Given the description of an element on the screen output the (x, y) to click on. 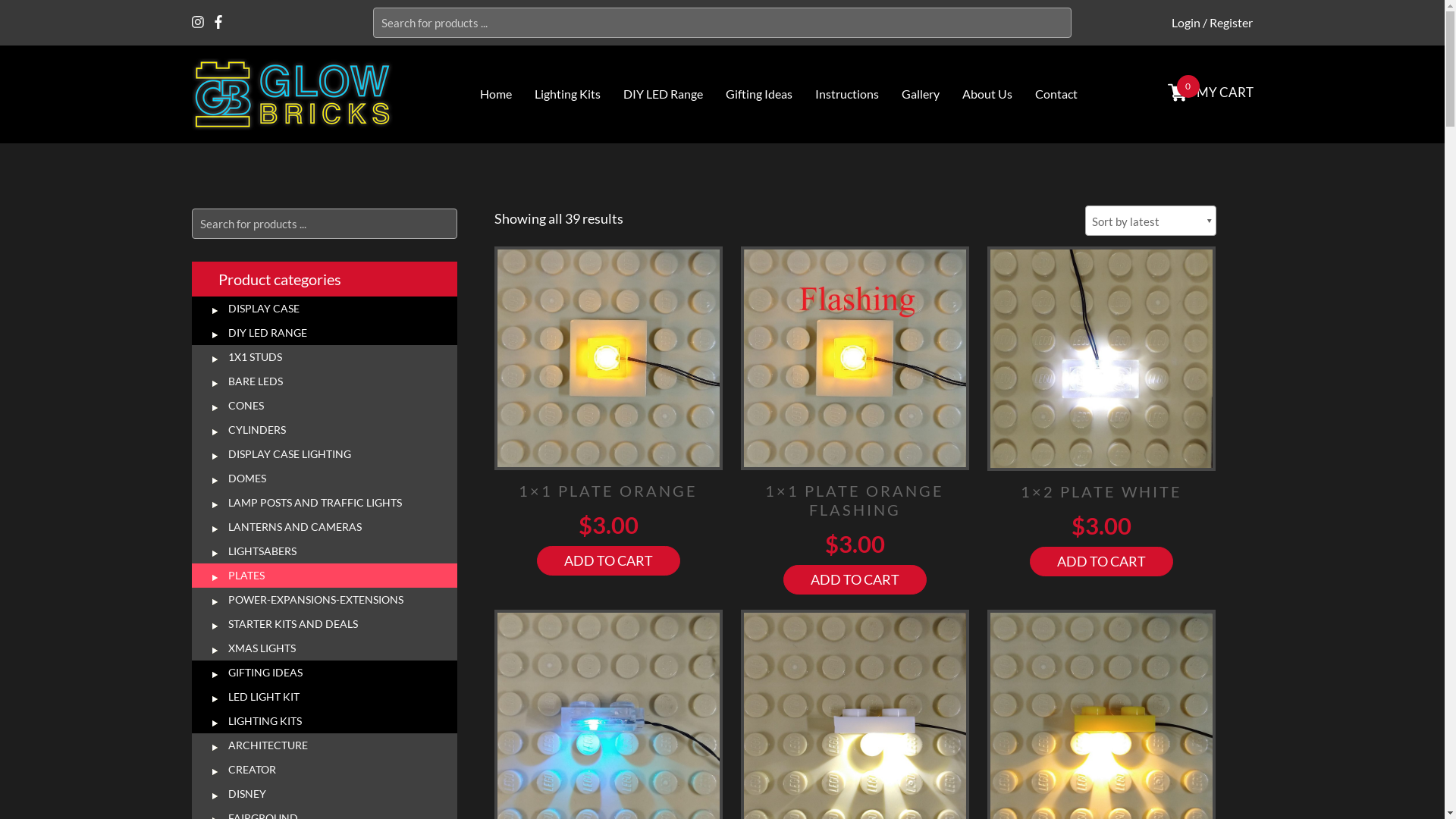
STARTER KITS AND DEALS Element type: text (323, 623)
Register Element type: text (1230, 22)
1X1 STUDS Element type: text (323, 357)
XMAS LIGHTS Element type: text (323, 648)
Home Element type: text (495, 93)
Login Element type: text (1185, 22)
0
MY CART Element type: text (1224, 92)
DIY LED Range Element type: text (662, 93)
POWER-EXPANSIONS-EXTENSIONS Element type: text (323, 599)
Gallery Element type: text (920, 93)
CREATOR Element type: text (323, 769)
Search Element type: text (42, 12)
ADD TO CART Element type: text (608, 560)
DIY LED RANGE Element type: text (323, 332)
DISPLAY CASE Element type: text (323, 308)
GIFTING IDEAS Element type: text (323, 672)
Gifting Ideas Element type: text (758, 93)
ARCHITECTURE Element type: text (323, 745)
Contact Element type: text (1055, 93)
Search Element type: text (40, 12)
LANTERNS AND CAMERAS Element type: text (323, 526)
Instructions Element type: text (846, 93)
CYLINDERS Element type: text (323, 429)
LIGHTSABERS Element type: text (323, 551)
Lighting Kits Element type: text (567, 93)
CONES Element type: text (323, 405)
PLATES Element type: text (323, 575)
About Us Element type: text (986, 93)
LIGHTING KITS Element type: text (323, 721)
LED LIGHT KIT Element type: text (323, 696)
LAMP POSTS AND TRAFFIC LIGHTS Element type: text (323, 502)
DISNEY Element type: text (323, 793)
ADD TO CART Element type: text (854, 579)
DOMES Element type: text (323, 478)
DISPLAY CASE LIGHTING Element type: text (323, 454)
BARE LEDS Element type: text (323, 381)
ADD TO CART Element type: text (1101, 561)
